Given the description of an element on the screen output the (x, y) to click on. 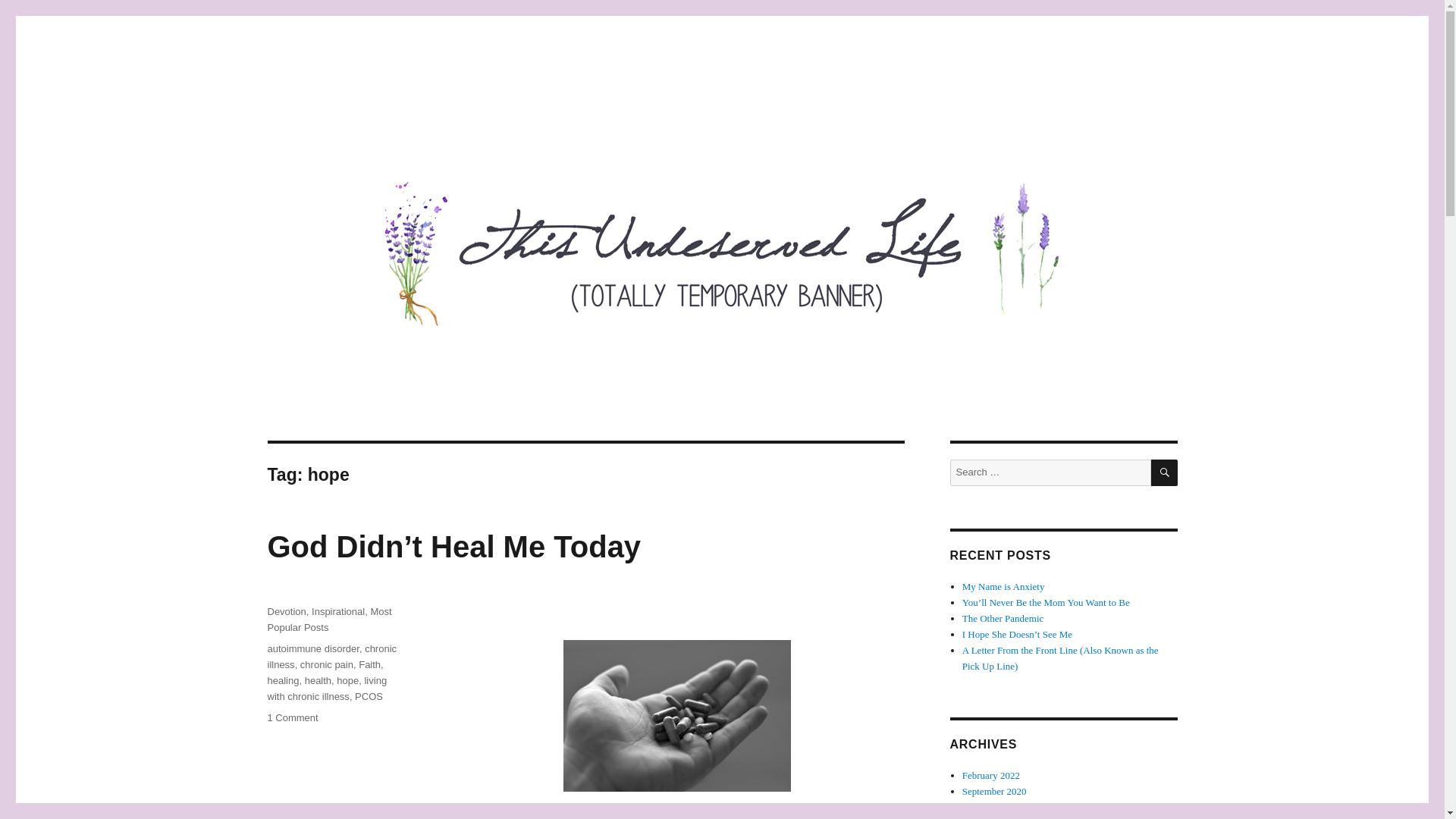
Faith (369, 664)
April 2020 (984, 807)
February 2022 (991, 775)
September 2020 (994, 790)
My Name is Anxiety (1003, 586)
Most Popular Posts (328, 619)
hope (347, 680)
SEARCH (1164, 472)
healing (282, 680)
chronic illness (331, 656)
This Undeserved Life (373, 114)
The Other Pandemic (1002, 618)
PCOS (368, 696)
chronic pain (326, 664)
Inspirational (338, 611)
